Given the description of an element on the screen output the (x, y) to click on. 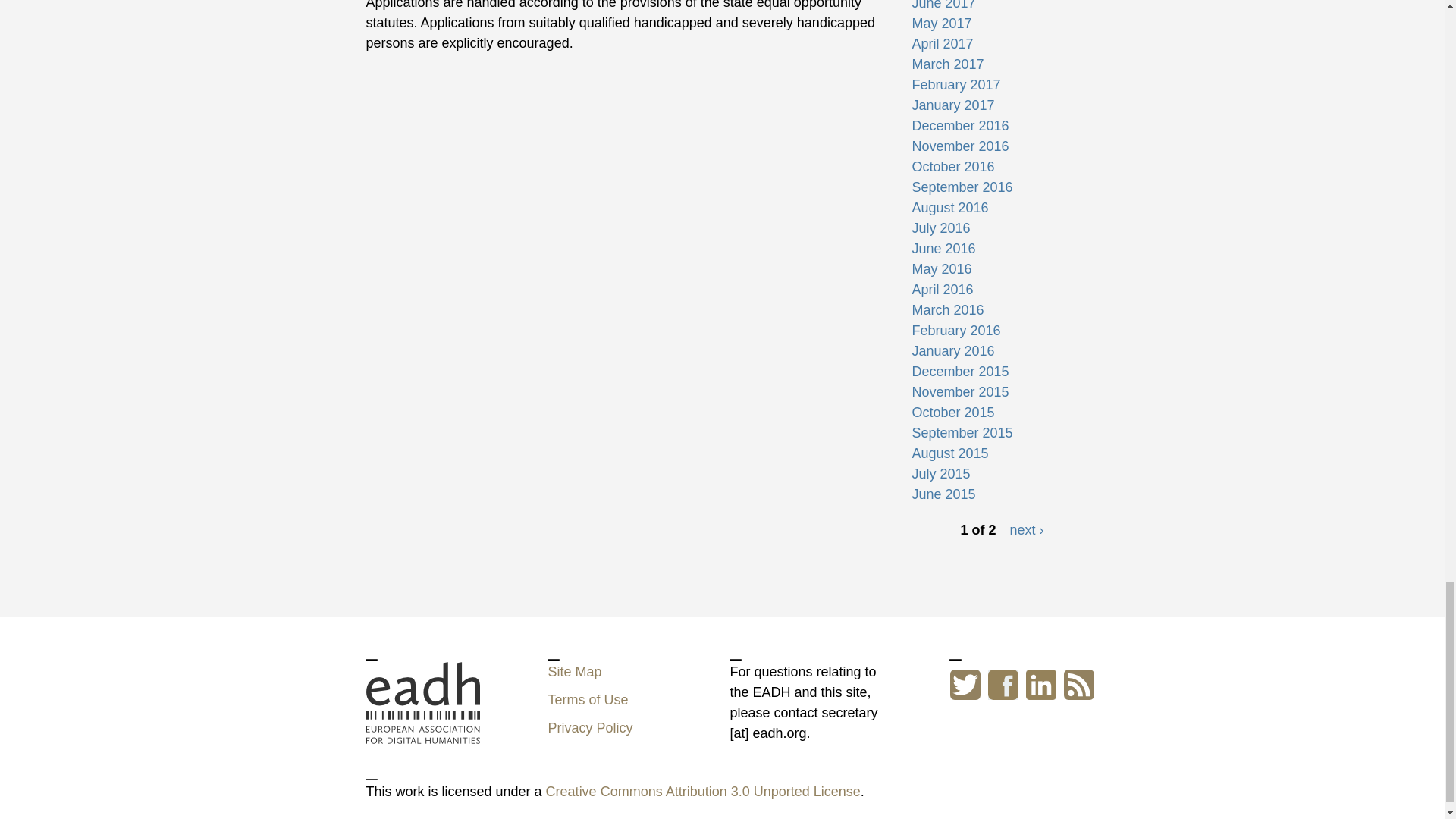
EADH - European Association for Digital Humanities (422, 702)
Go to next page (1026, 529)
EADH - European Association for Digital Humanities (422, 733)
